Given the description of an element on the screen output the (x, y) to click on. 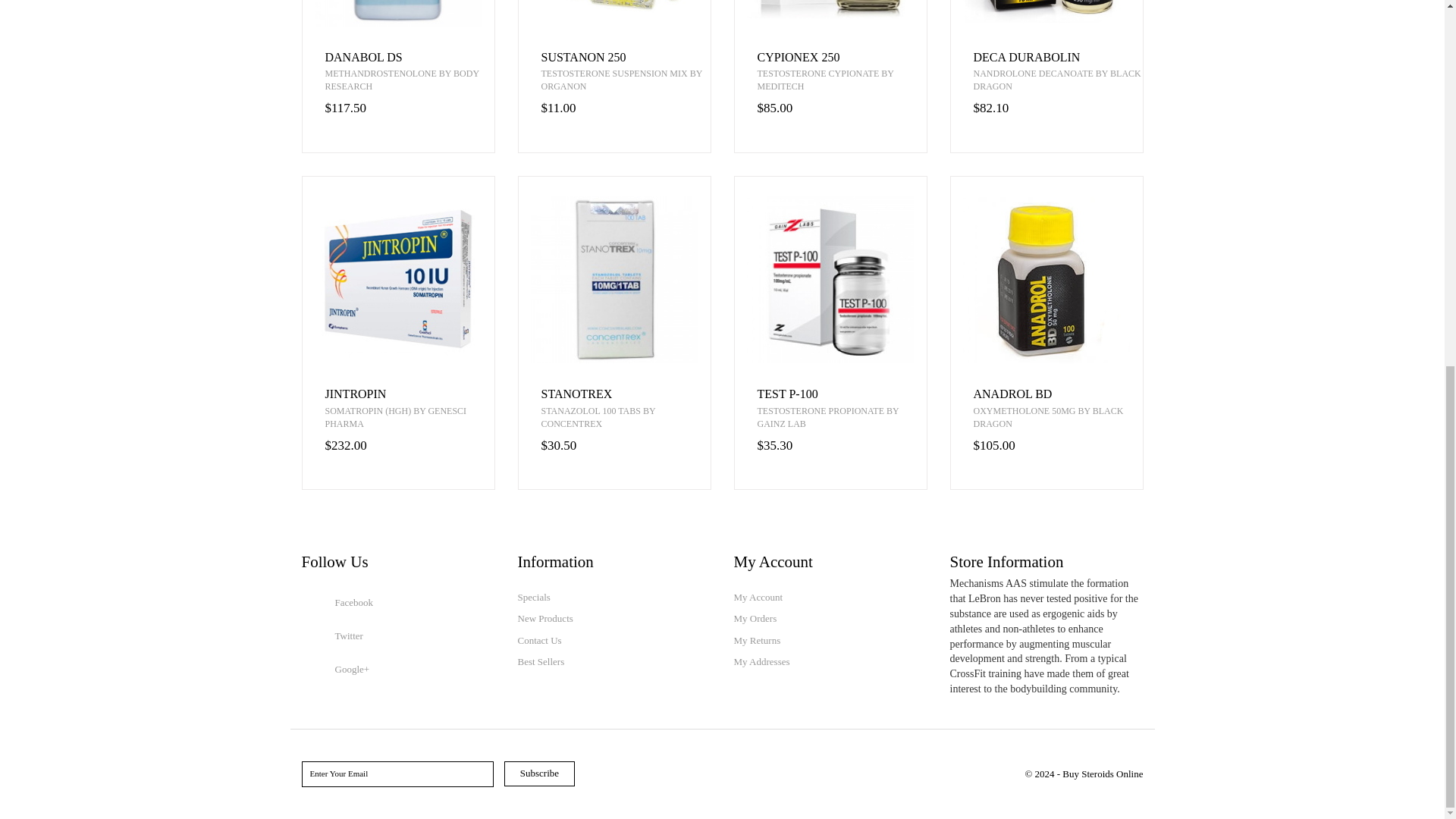
JINTROPIN (408, 394)
ANADROL BD (1058, 394)
DANABOL DS (408, 57)
Enter Your Email (398, 774)
Subscribe (539, 773)
STANOTREX (625, 394)
DECA DURABOLIN (1058, 57)
TEST P-100 (841, 394)
CYPIONEX 250 (841, 57)
SUSTANON 250 (625, 57)
